Given the description of an element on the screen output the (x, y) to click on. 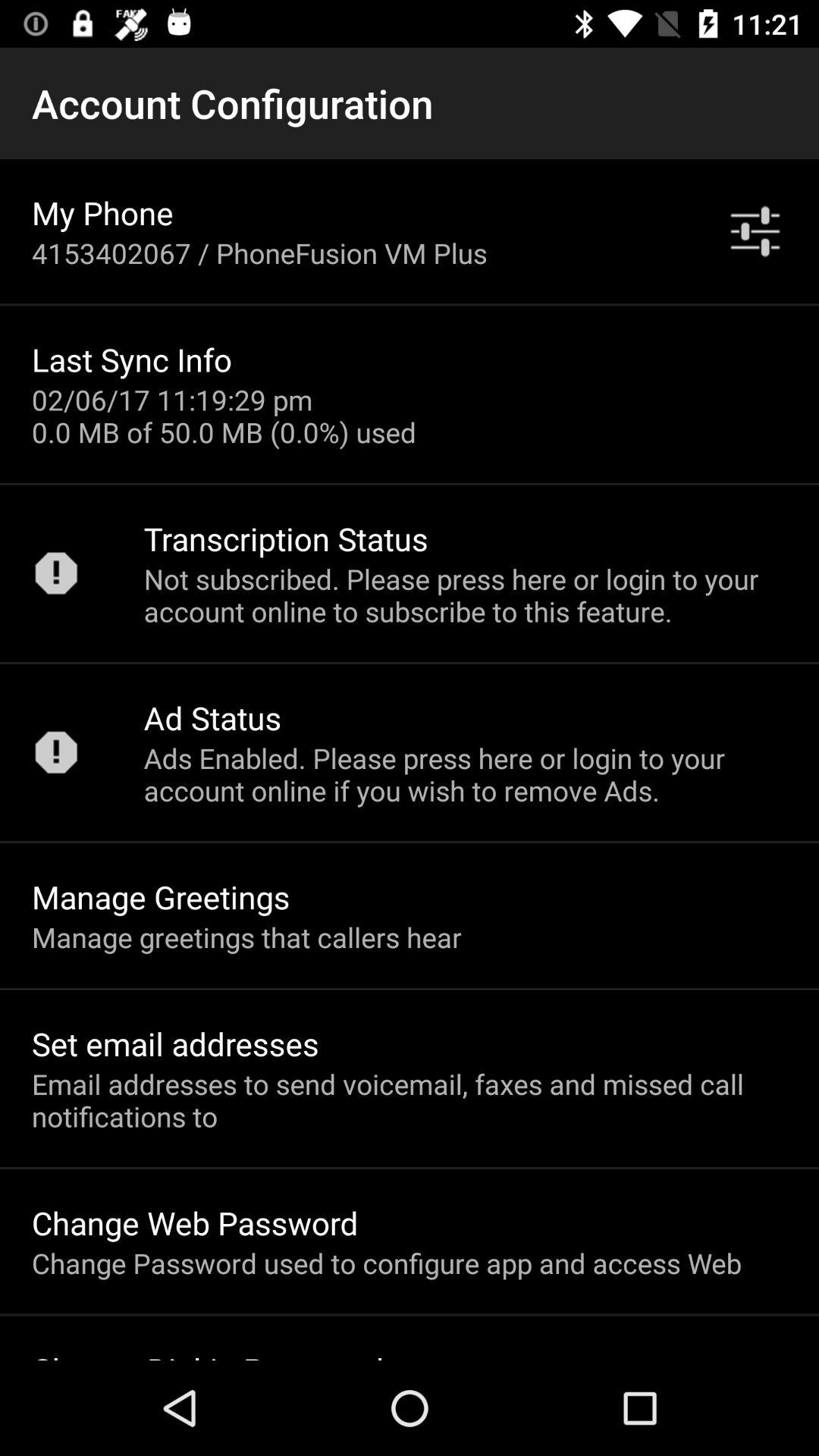
click app below 02 06 17 (285, 538)
